Given the description of an element on the screen output the (x, y) to click on. 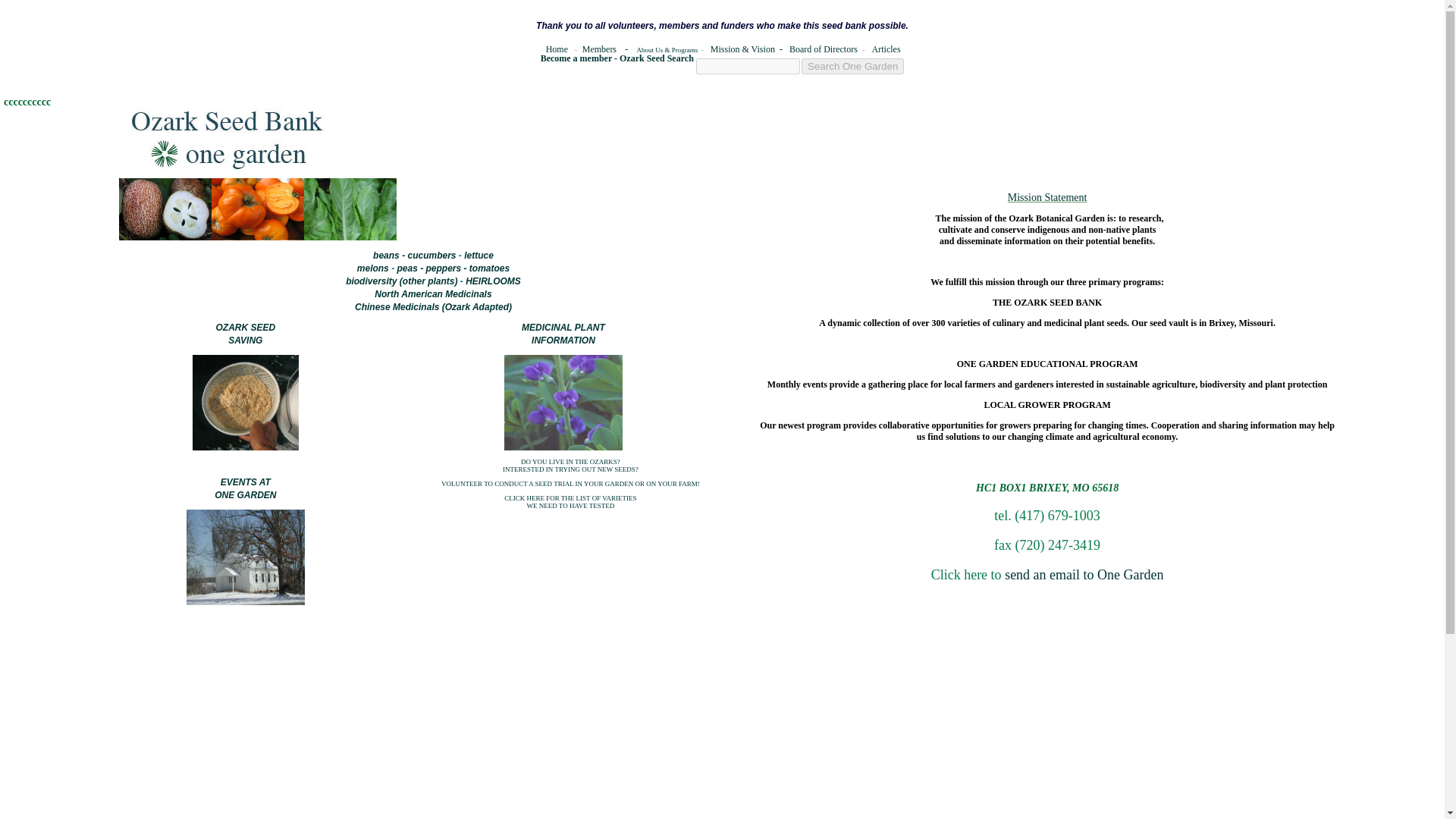
Become a member - (578, 58)
Home (556, 49)
Articles (886, 49)
lettuce (478, 255)
Board of Directors (823, 49)
send an email to One Garden (1083, 574)
cucumbers (245, 488)
peas - (563, 333)
melons (431, 255)
